Given the description of an element on the screen output the (x, y) to click on. 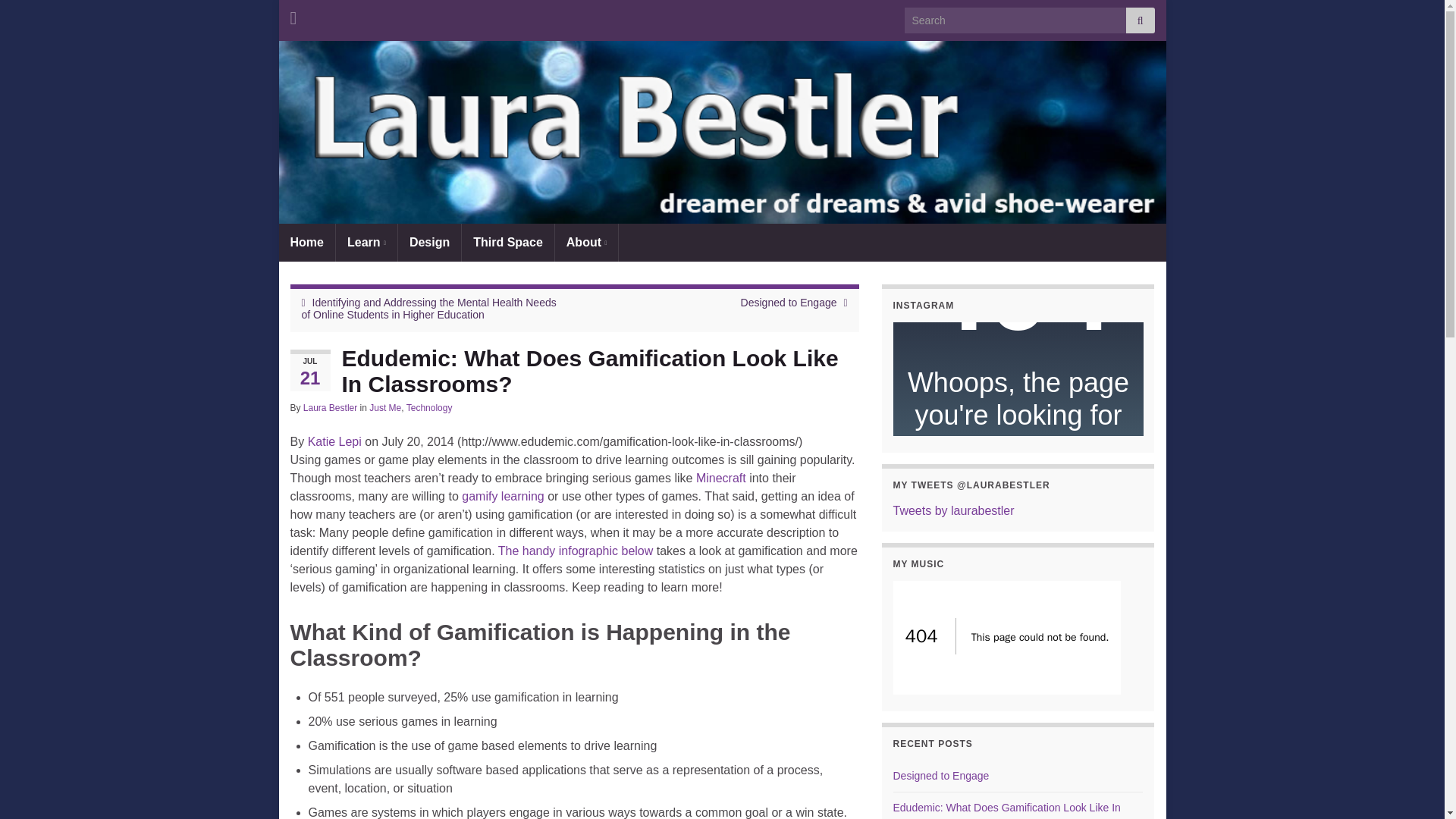
Minecraft (720, 477)
Learn (366, 242)
Edudemic: What Does Gamification Look Like In Classrooms? (1007, 810)
Tweets by laurabestler (953, 510)
Designed to Engage (789, 302)
About (586, 242)
The handy infographic below (575, 550)
Design (429, 242)
